Given the description of an element on the screen output the (x, y) to click on. 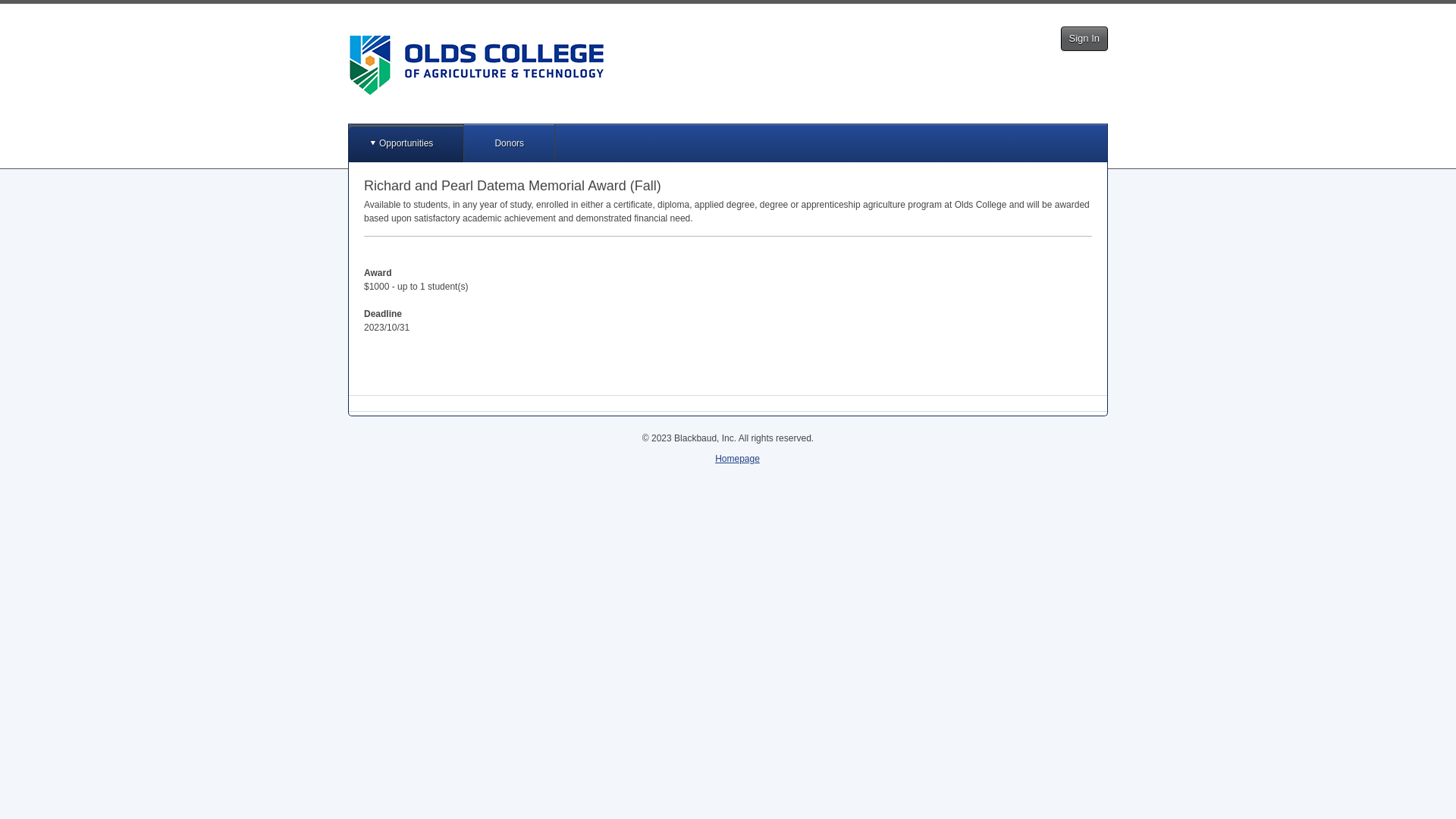
Sign In Element type: text (1083, 38)
Donors Element type: text (509, 143)
Olds College of Agriculture & Technology Scholarships Element type: hover (476, 64)
Homepage Element type: text (737, 458)
Opportunities Element type: text (405, 143)
